Given the description of an element on the screen output the (x, y) to click on. 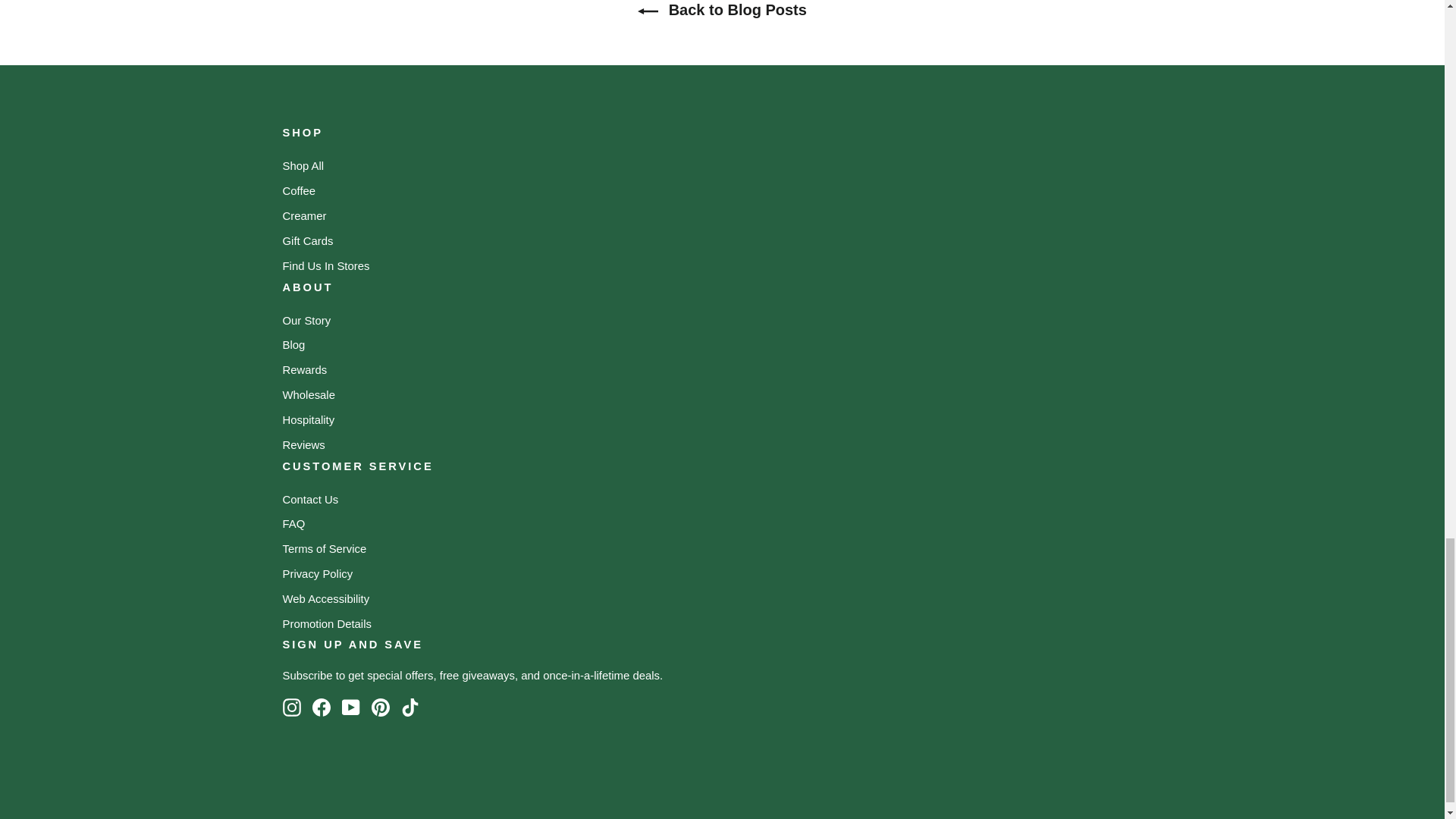
Copper Cow Coffee on Instagram (290, 707)
Copper Cow Coffee on Facebook (321, 707)
Copper Cow Coffee on TikTok (409, 707)
Copper Cow Coffee on Pinterest (380, 707)
Copper Cow Coffee on YouTube (349, 707)
